Given the description of an element on the screen output the (x, y) to click on. 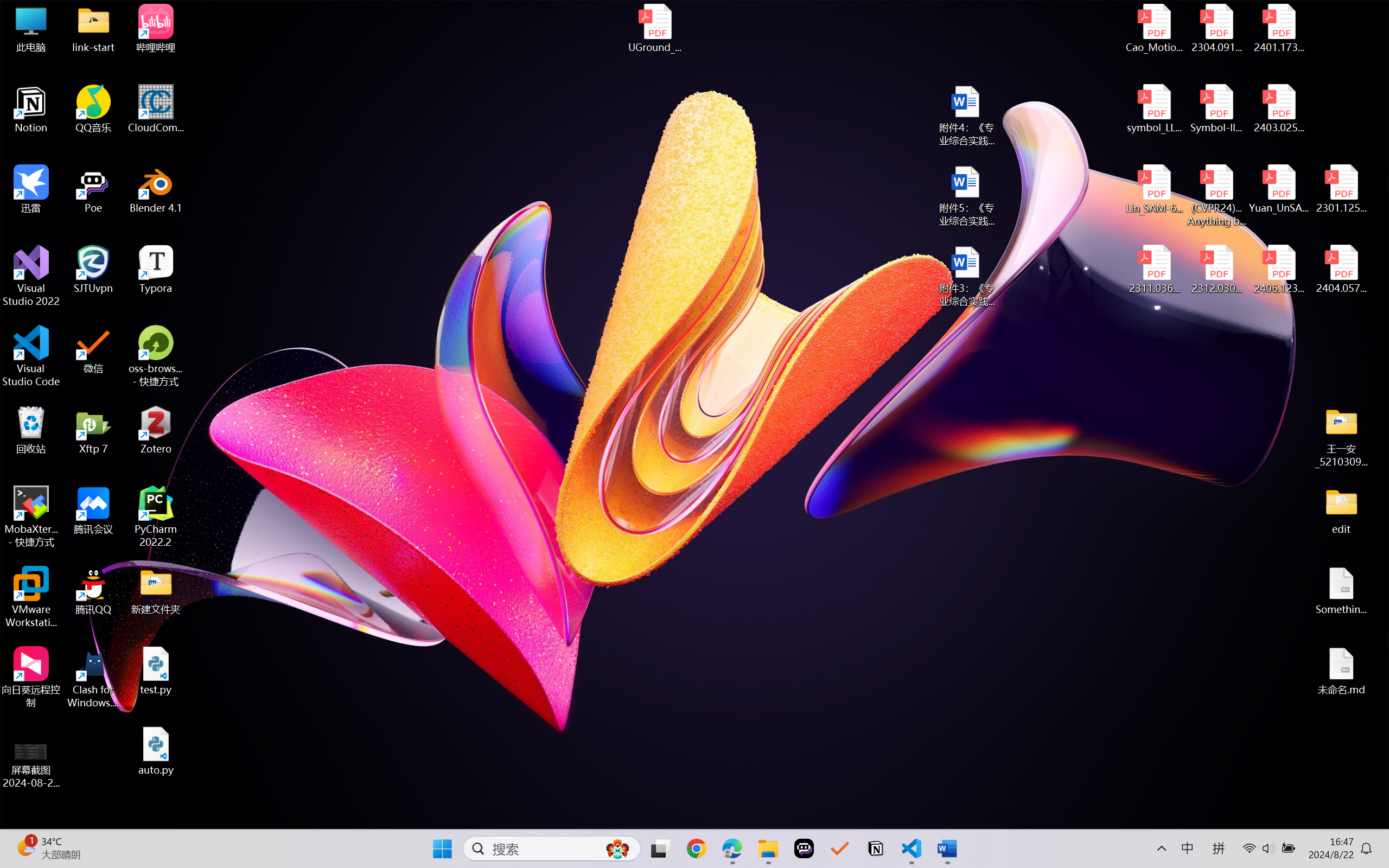
2304.09121v3.pdf (1216, 28)
Xftp 7 (93, 430)
PyCharm 2022.2 (156, 516)
Visual Studio Code (31, 355)
